Given the description of an element on the screen output the (x, y) to click on. 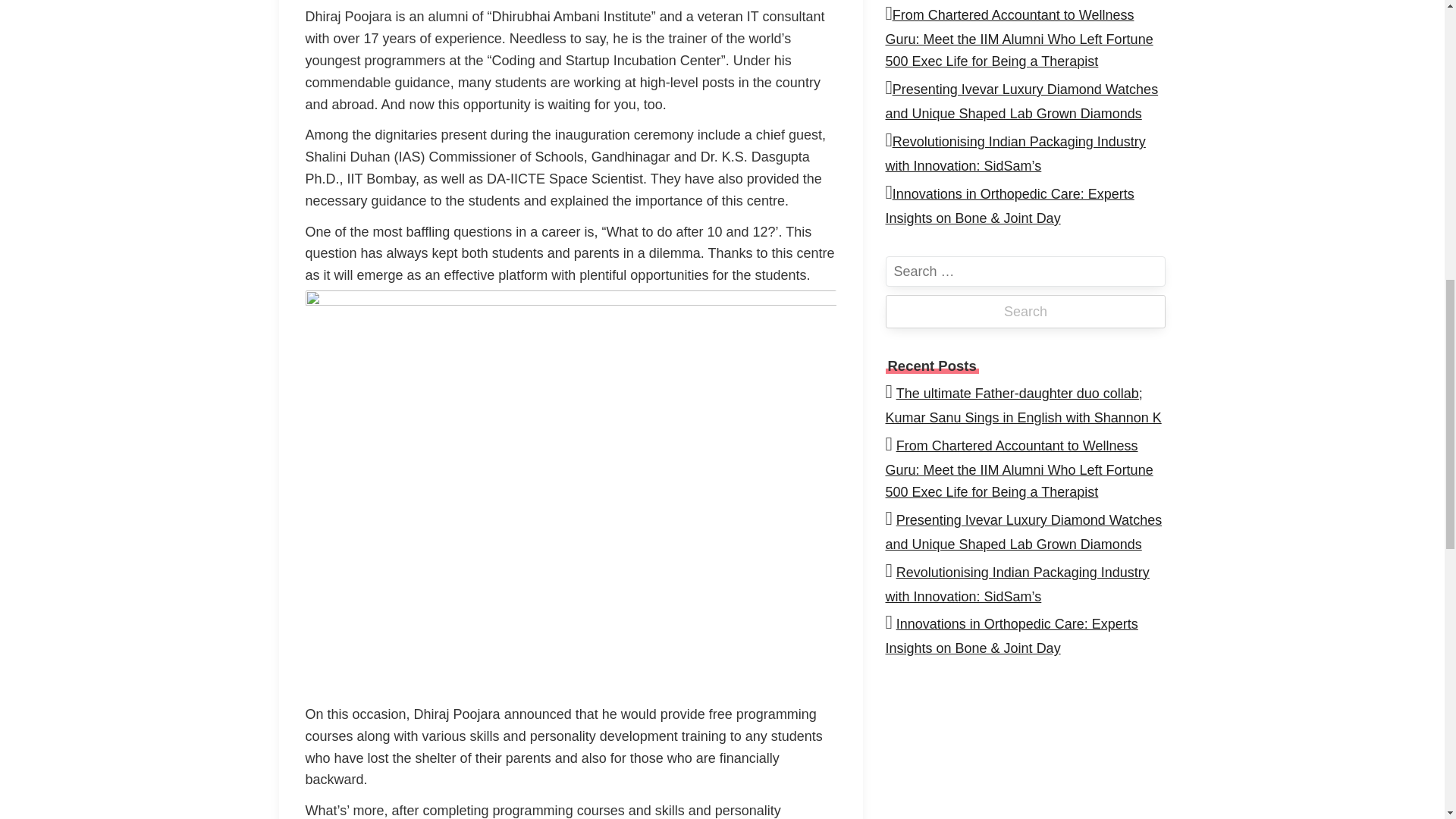
Search (1025, 310)
Search (1025, 310)
Search (1025, 310)
